Given the description of an element on the screen output the (x, y) to click on. 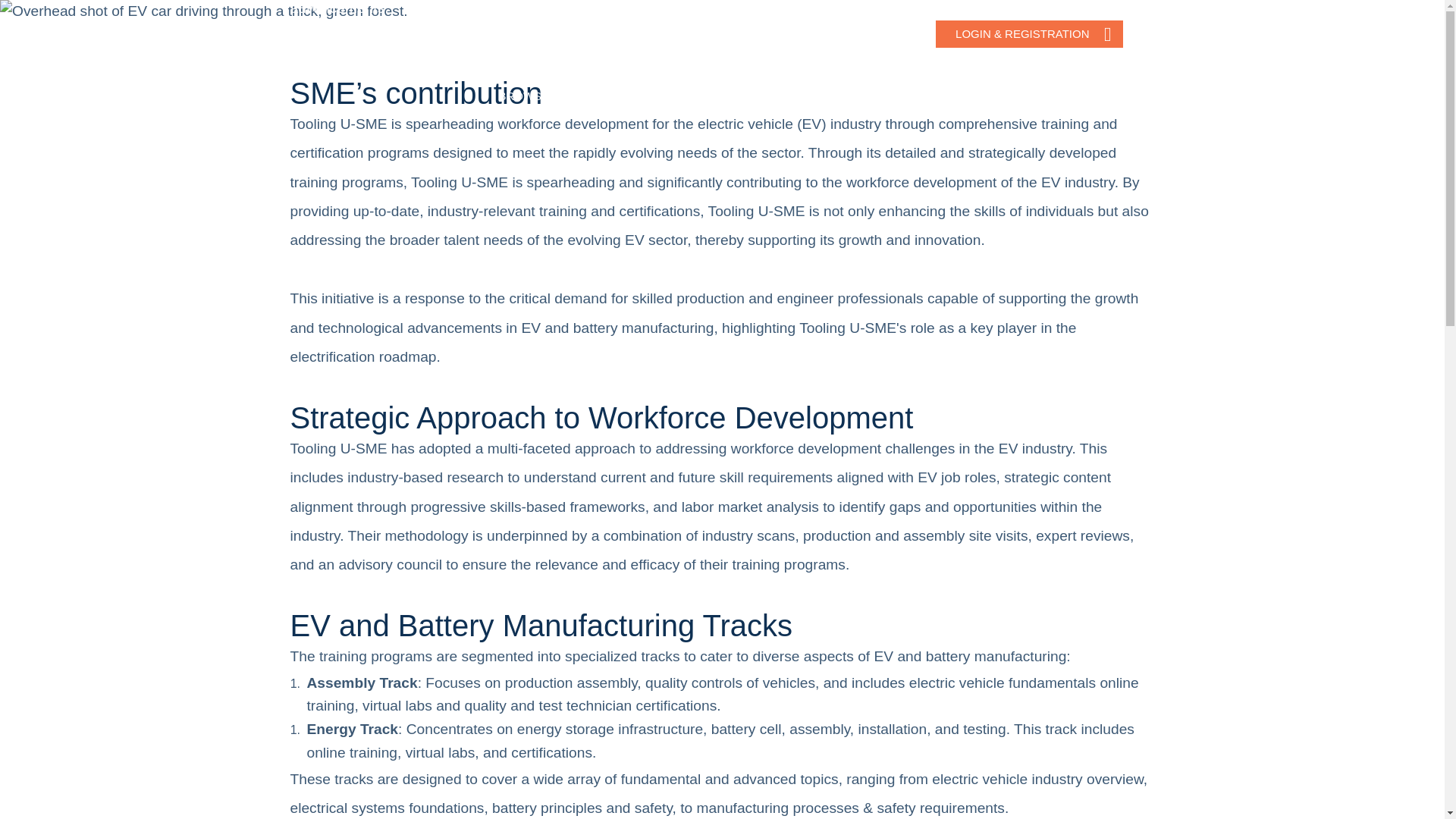
Get Started (705, 33)
Request a Free Trial (794, 33)
BROWSE CLASSES (550, 96)
Contact Us (882, 33)
